Given the description of an element on the screen output the (x, y) to click on. 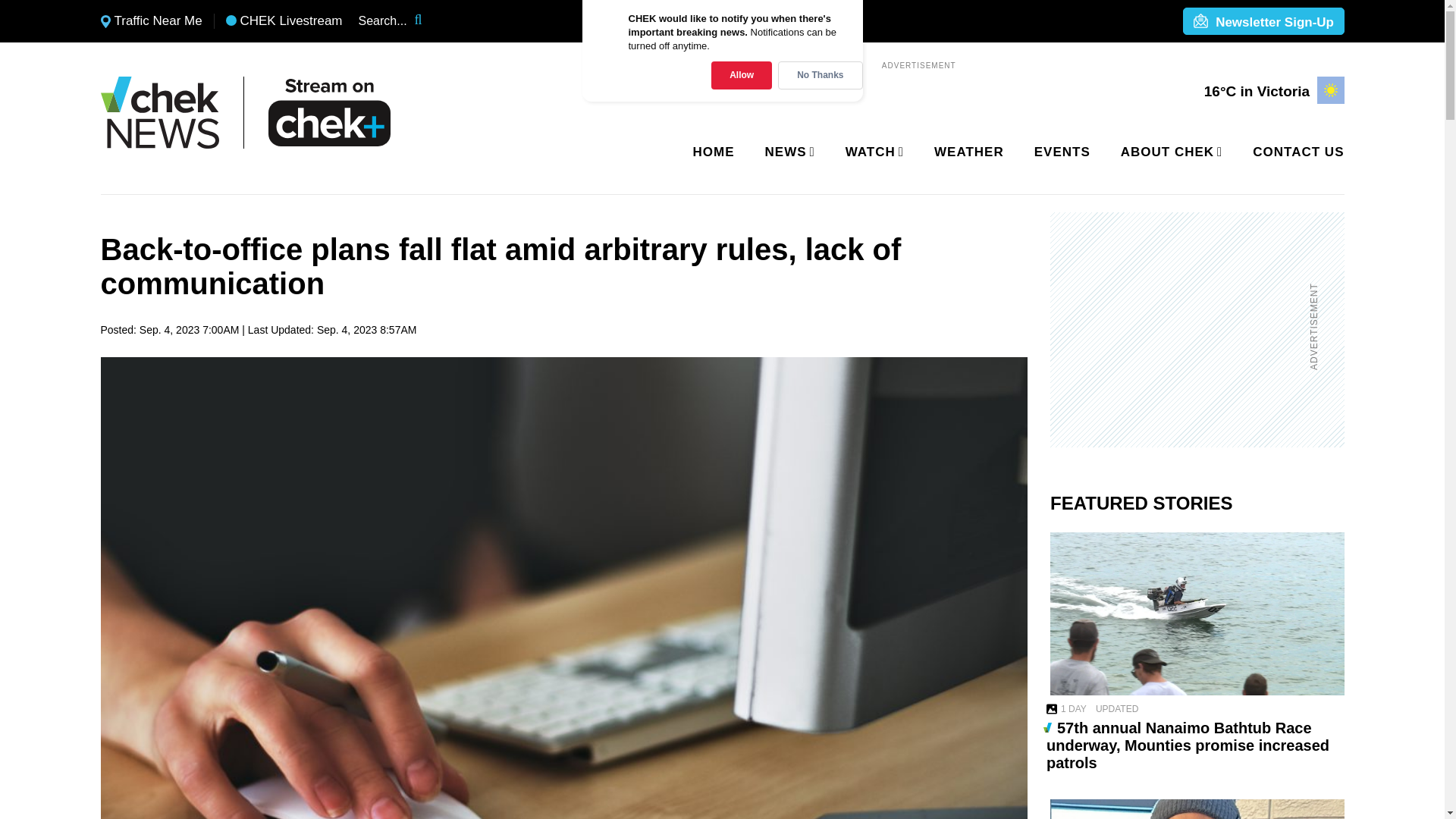
Traffic Near Me (151, 20)
HOME (714, 152)
NEWS (787, 152)
3rd party ad content (1187, 330)
Search (428, 21)
CHEK Livestream (283, 20)
Newsletter Sign-Up (1262, 22)
